Given the description of an element on the screen output the (x, y) to click on. 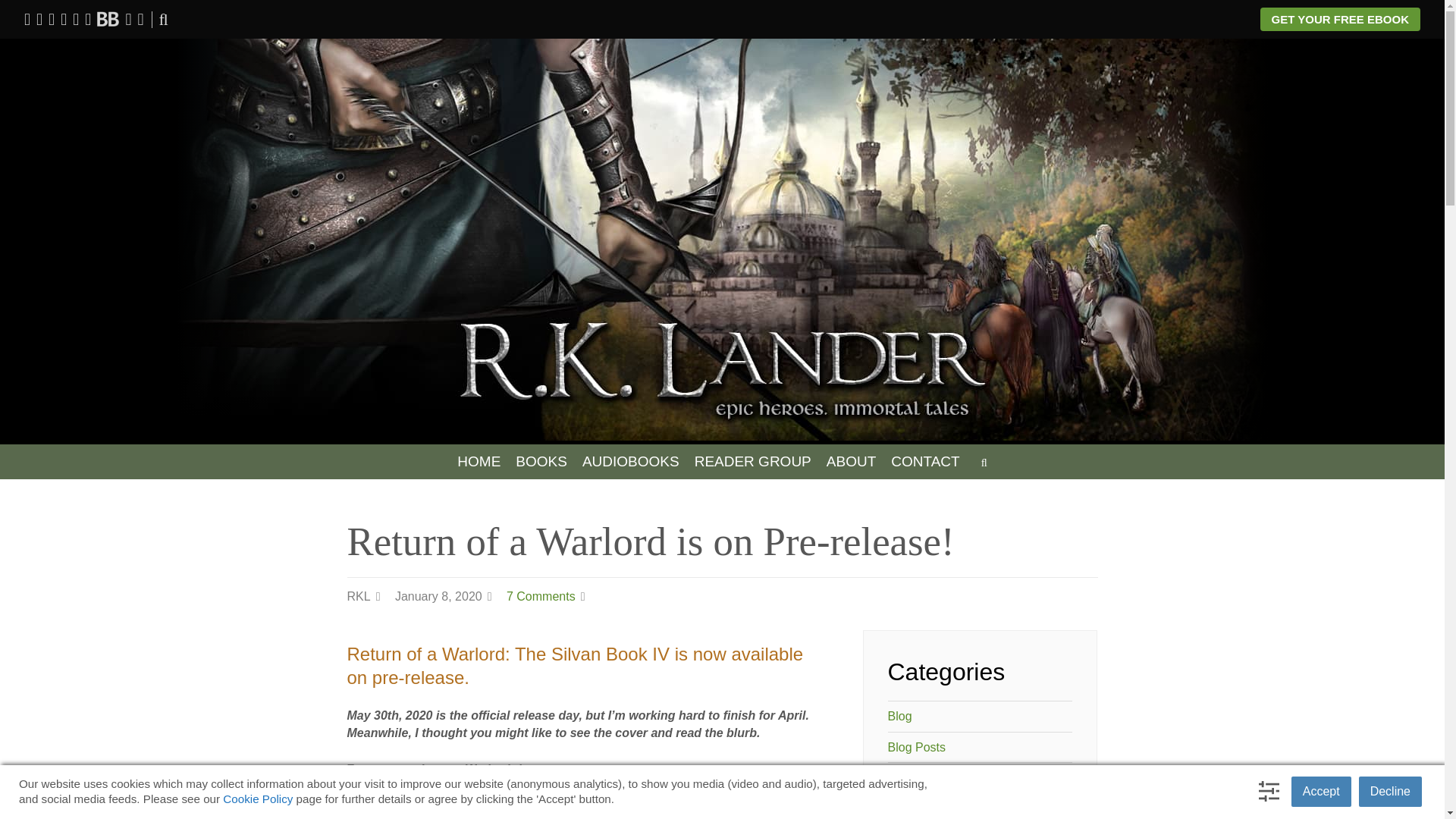
Follow on Instagram (63, 18)
Follow on Good Reads (87, 18)
BOOKS (541, 461)
CONTACT (924, 461)
ABOUT (850, 461)
7 Comments (540, 595)
Join Facebook Group (39, 18)
Follow on Facebook (27, 18)
Follow on Twitter (51, 18)
HOME (478, 461)
